Given the description of an element on the screen output the (x, y) to click on. 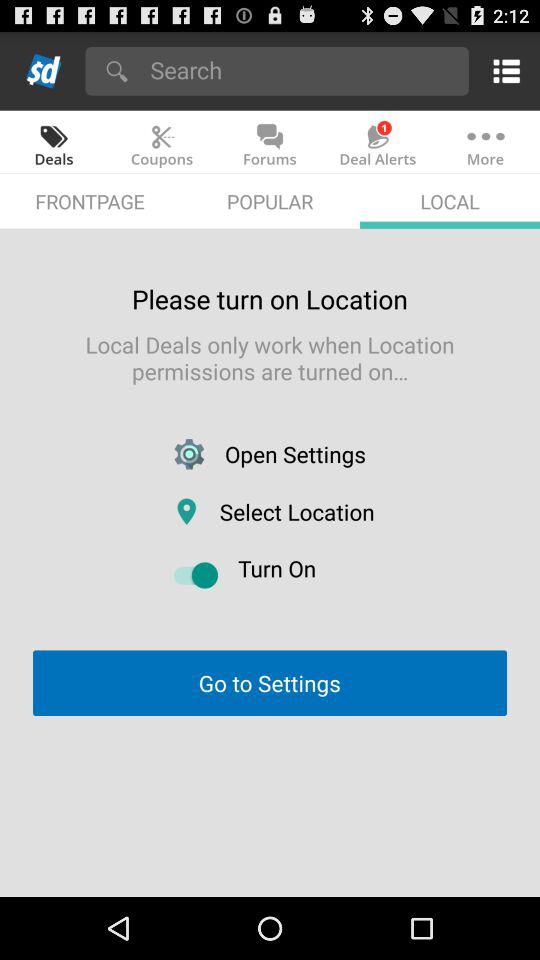
jump until frontpage icon (90, 200)
